Given the description of an element on the screen output the (x, y) to click on. 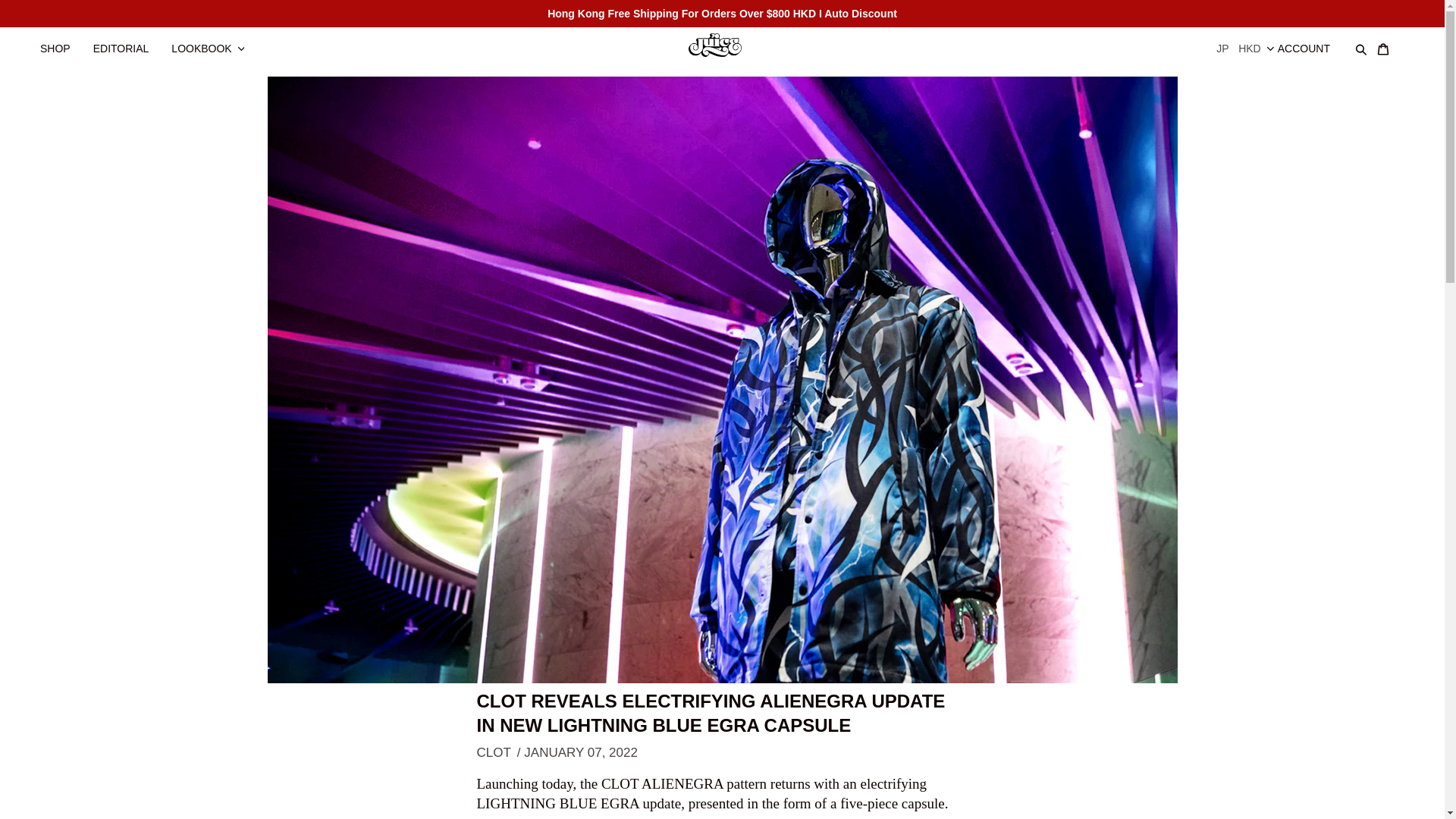
CART (1390, 41)
EDITORIAL (128, 41)
SHOP (62, 41)
ACCOUNT (1311, 41)
JUICESTORE (722, 43)
